Given the description of an element on the screen output the (x, y) to click on. 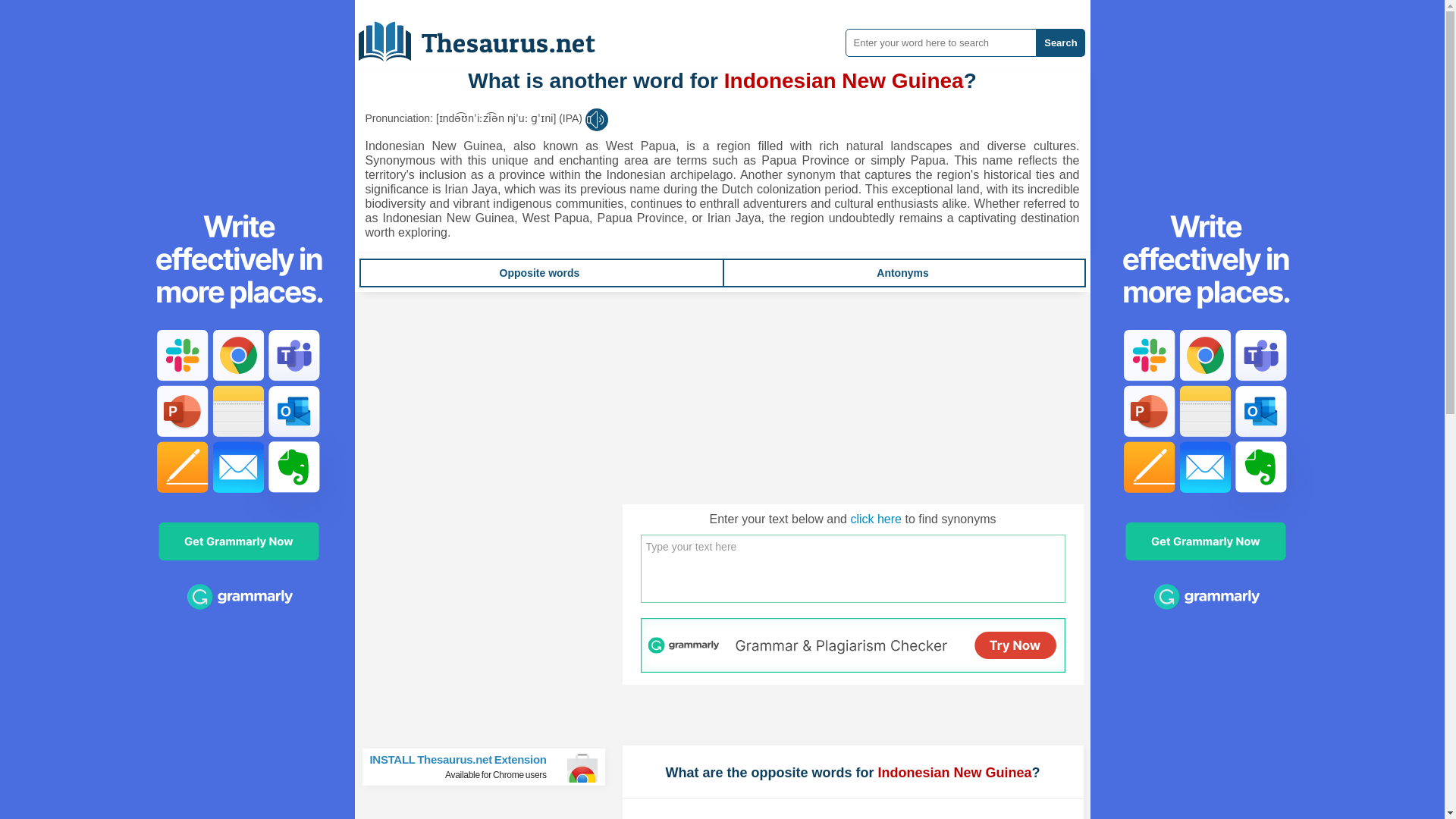
Search (1060, 42)
Antonyms (902, 272)
Opposite words (539, 272)
click here (875, 518)
Thesaurus.net (489, 766)
Antonyms (487, 35)
Opposite words (902, 272)
